Given the description of an element on the screen output the (x, y) to click on. 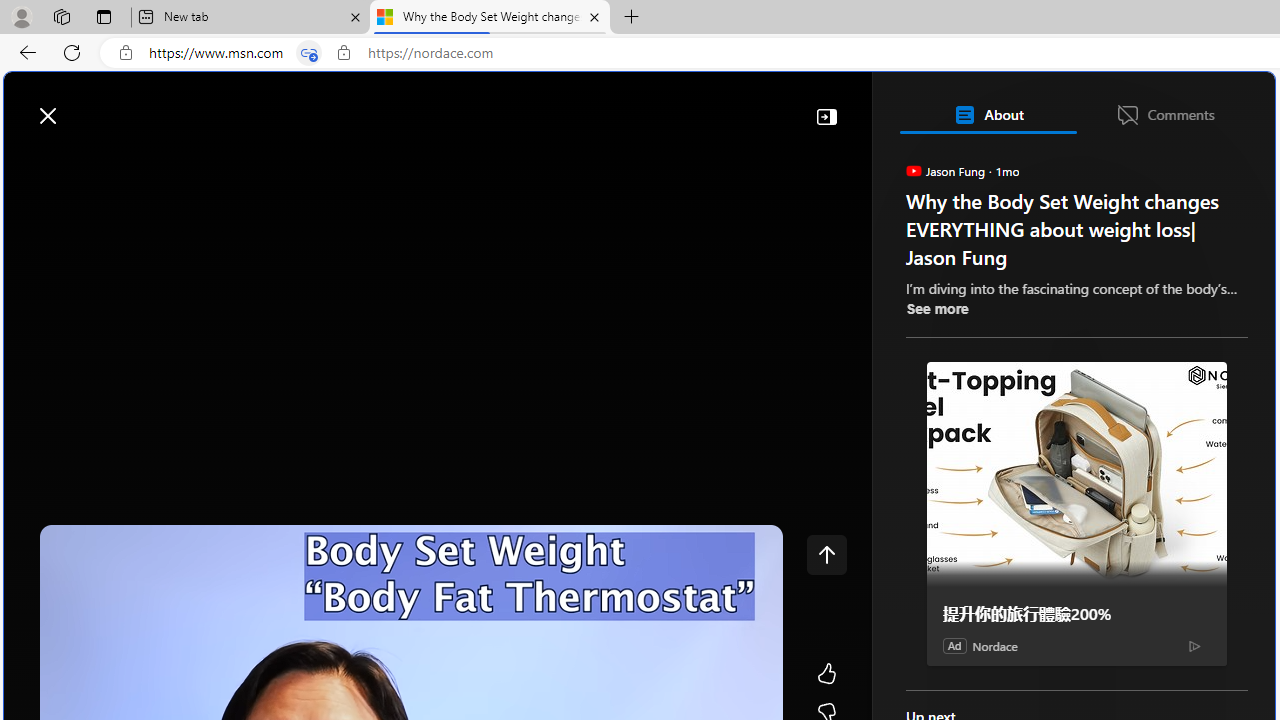
Open settings (1230, 105)
Nordace (994, 645)
Comments (1165, 114)
Discover (84, 162)
Class: control icon-only (826, 554)
Workspaces (61, 16)
Class: button-glyph (29, 162)
Discover (91, 162)
Microsoft rewards (1151, 105)
Tab actions menu (104, 16)
Web search (283, 105)
Like (826, 673)
Enter your search term (644, 106)
